Given the description of an element on the screen output the (x, y) to click on. 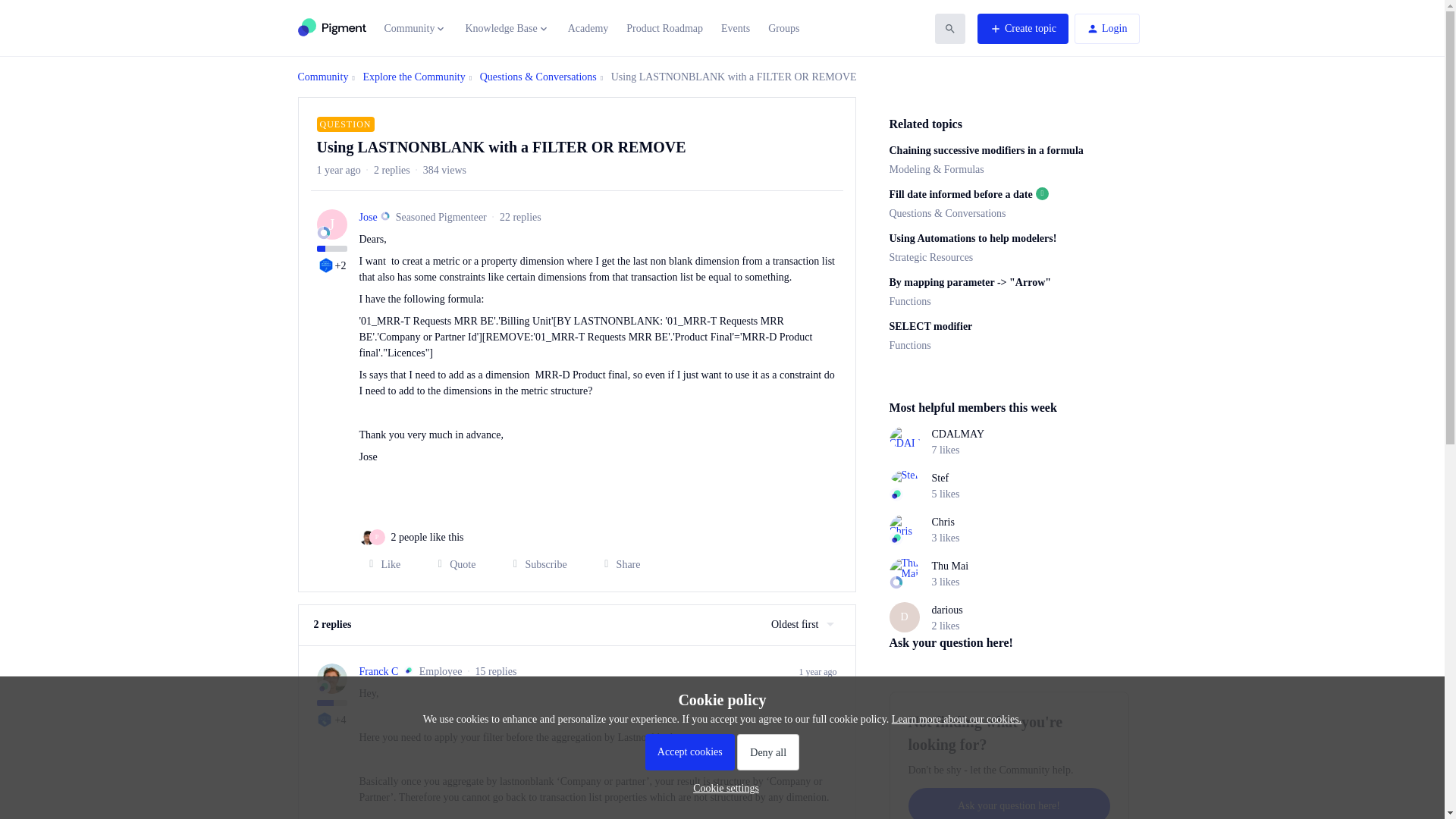
Knowledge Base (506, 28)
Create topic (1022, 28)
Academy (587, 28)
Product Roadmap (664, 28)
Login (1106, 28)
Community (415, 28)
Groups (783, 28)
Events (734, 28)
